Given the description of an element on the screen output the (x, y) to click on. 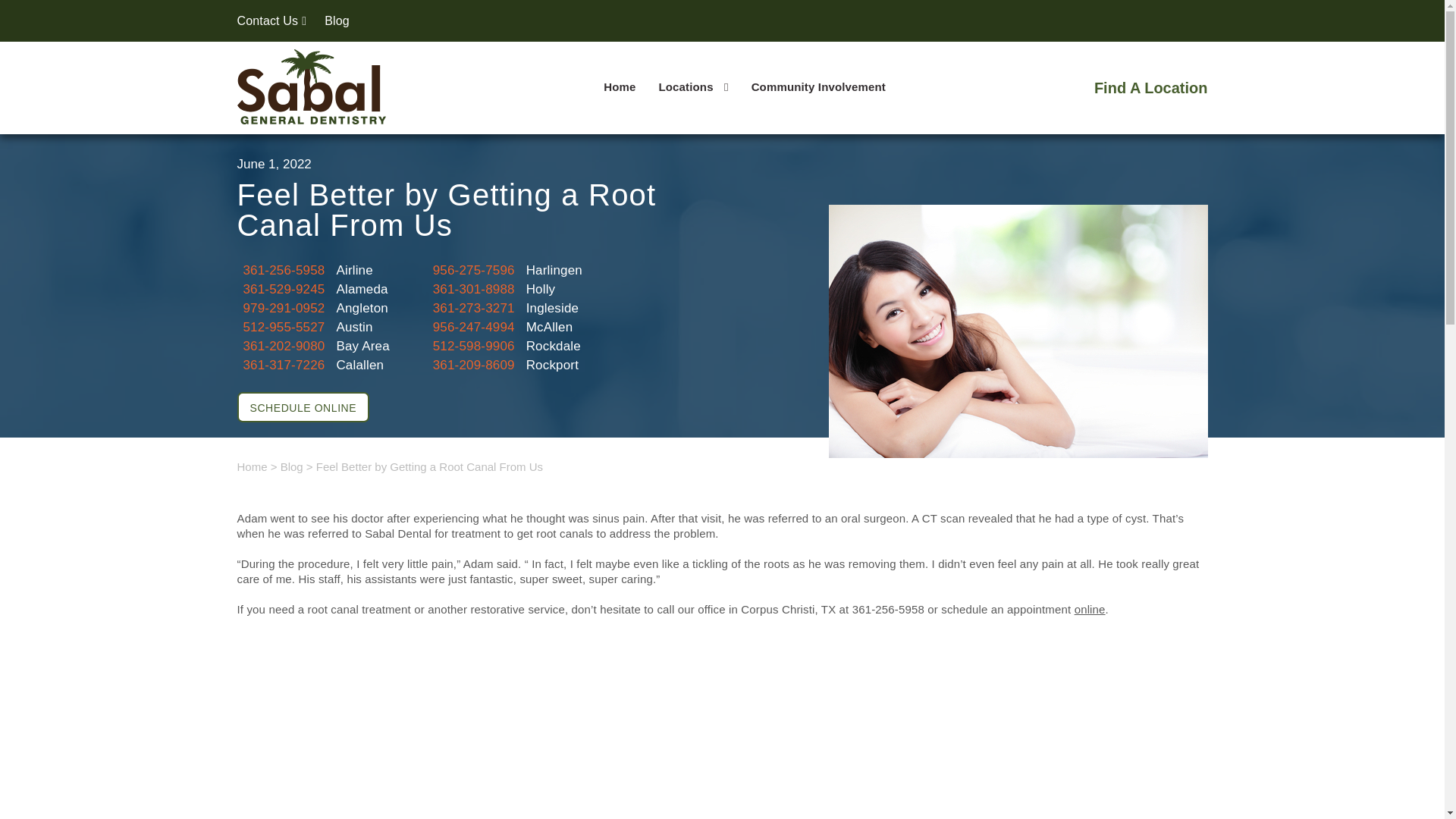
Locations (693, 86)
Blog (336, 19)
YouTube video player (721, 725)
Contact Us (270, 19)
